Given the description of an element on the screen output the (x, y) to click on. 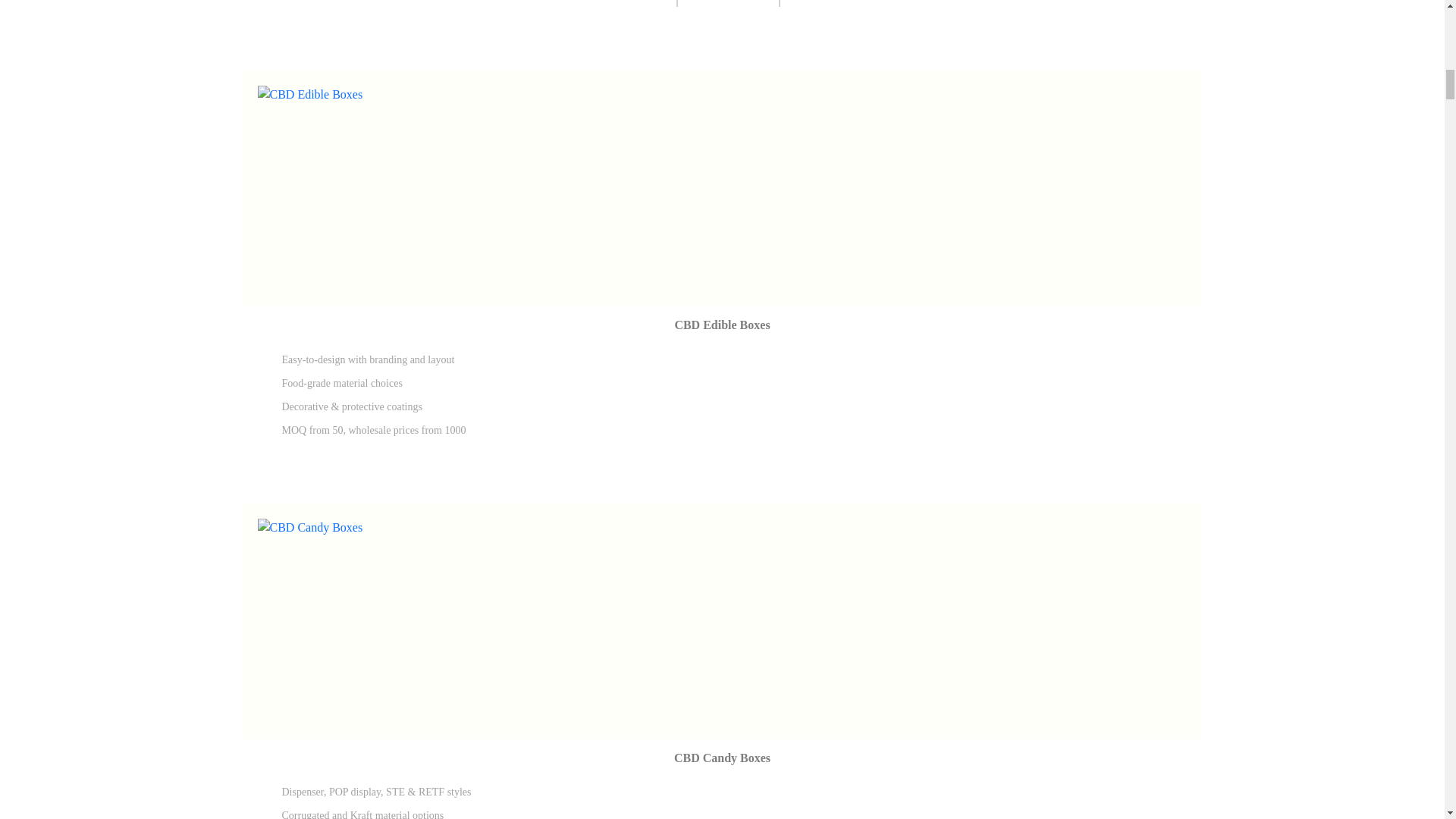
Extracts (729, 3)
Smokeables (845, 3)
CBD-Infused (605, 3)
